Given the description of an element on the screen output the (x, y) to click on. 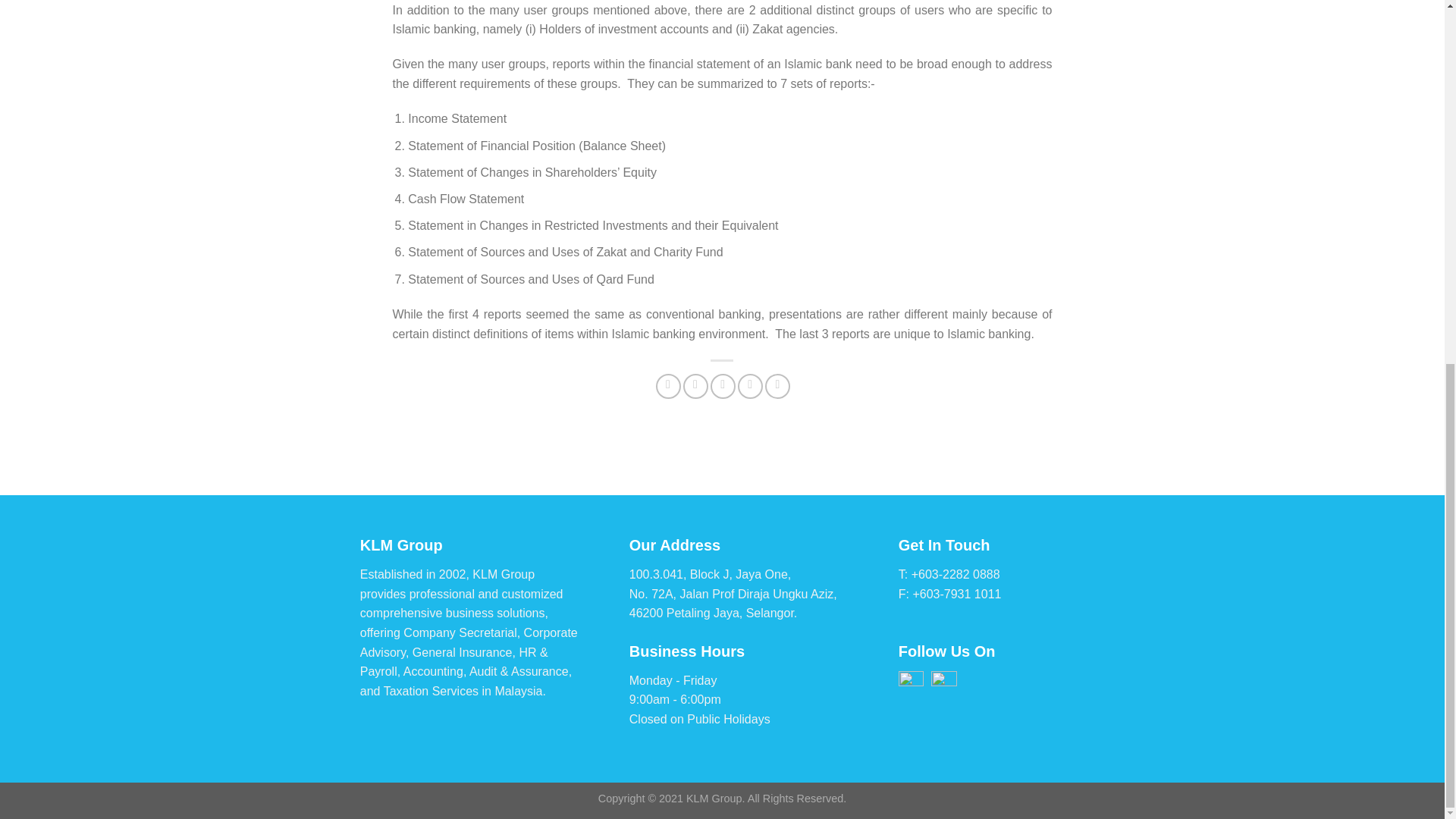
Pin on Pinterest (750, 385)
Share on LinkedIn (777, 385)
Share on Facebook (668, 385)
Email to a Friend (722, 385)
Share on Twitter (694, 385)
